Given the description of an element on the screen output the (x, y) to click on. 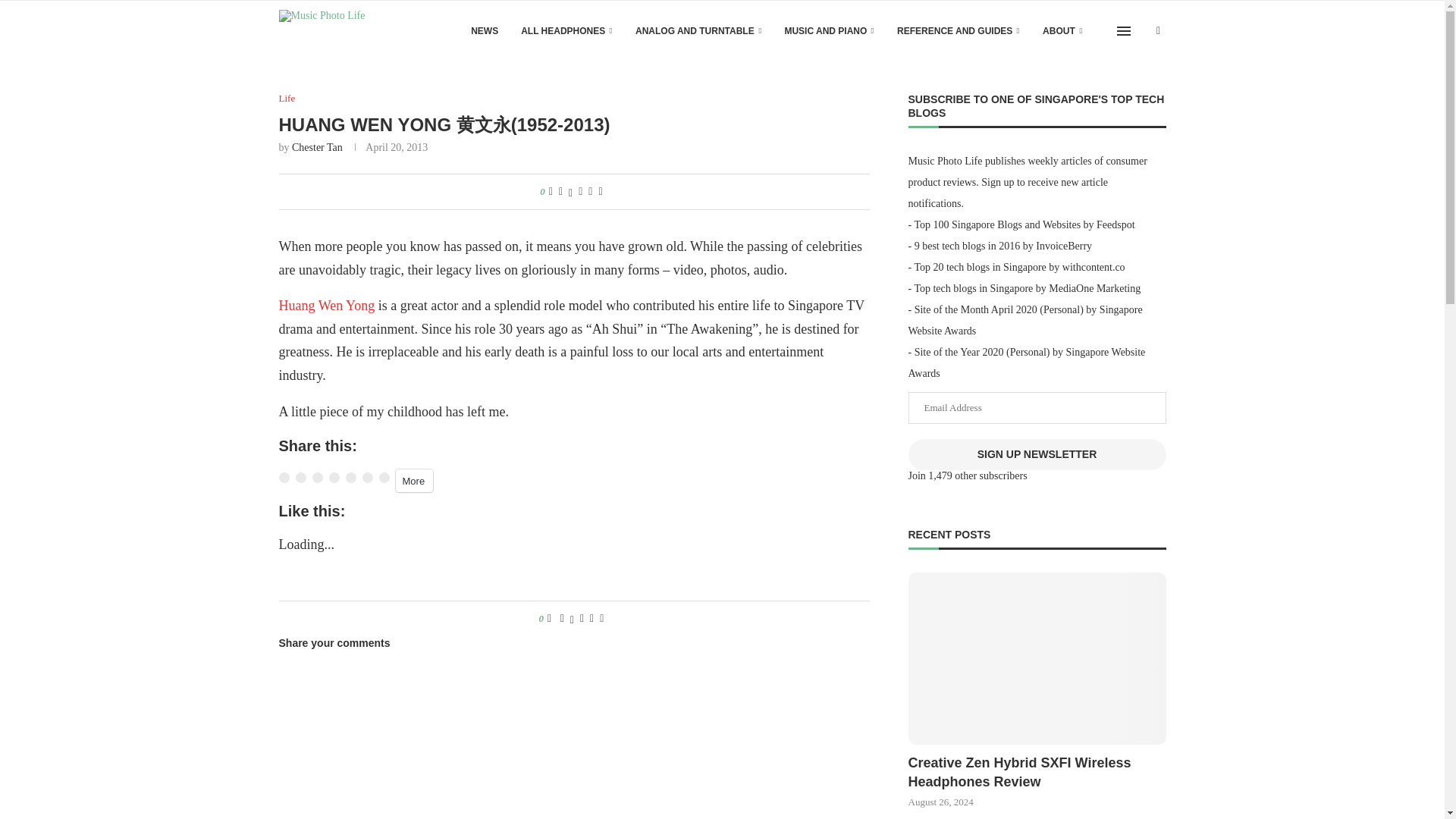
Life (287, 98)
MUSIC AND PIANO (829, 30)
Click to share on Twitter (300, 477)
ALL HEADPHONES (566, 30)
Chester Tan (317, 147)
Click to share on WhatsApp (318, 477)
Click to share on LinkedIn (384, 477)
Huang Wen Yong (327, 305)
REFERENCE AND GUIDES (958, 30)
ANALOG AND TURNTABLE (697, 30)
